Given the description of an element on the screen output the (x, y) to click on. 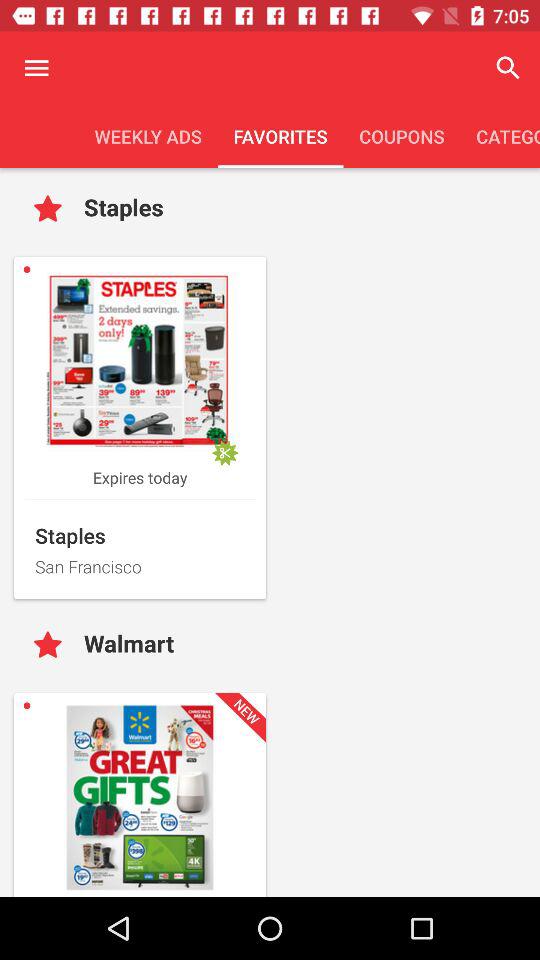
add on save (52, 645)
